Given the description of an element on the screen output the (x, y) to click on. 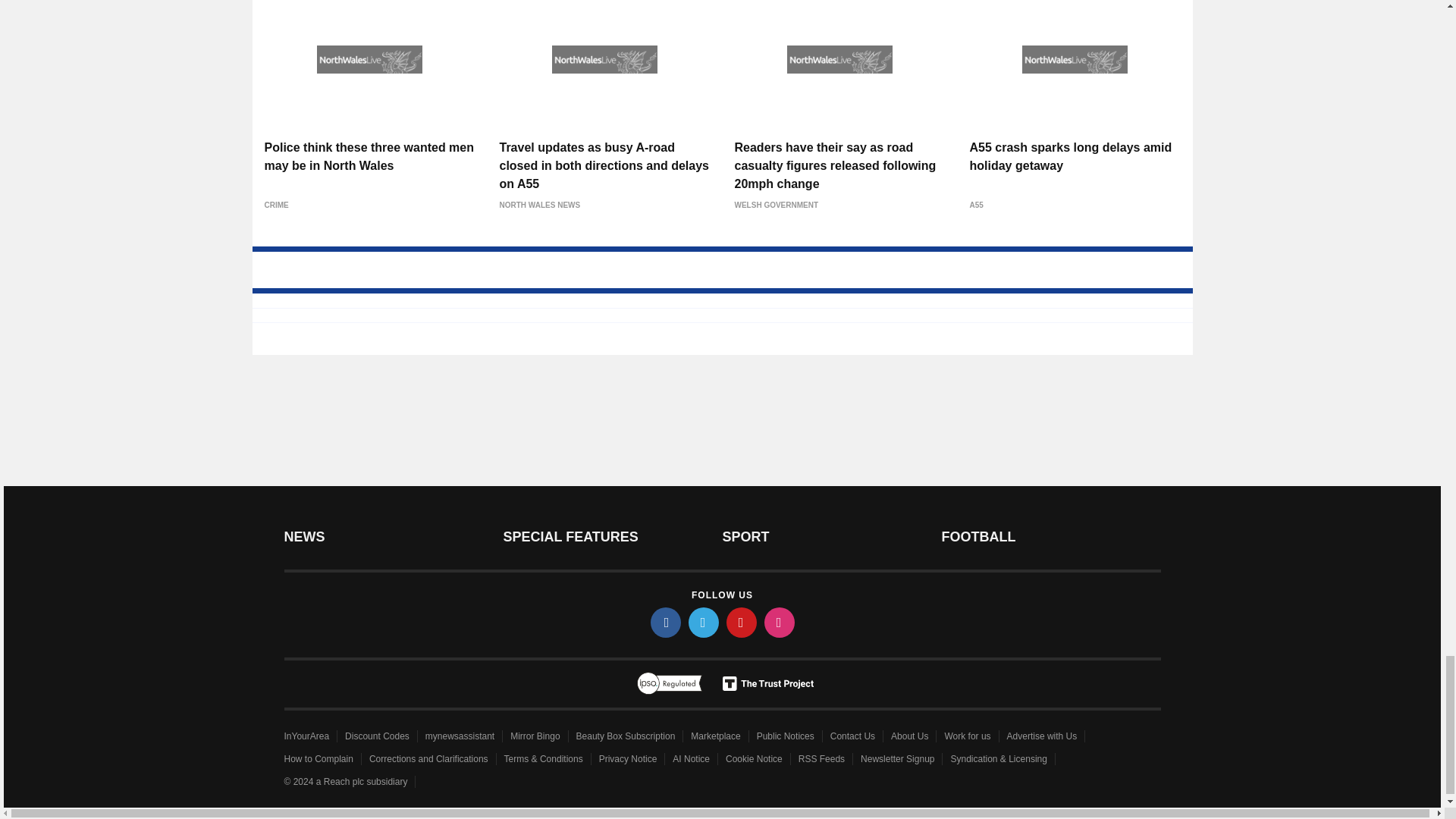
pinterest (741, 622)
facebook (665, 622)
twitter (703, 622)
instagram (779, 622)
